Given the description of an element on the screen output the (x, y) to click on. 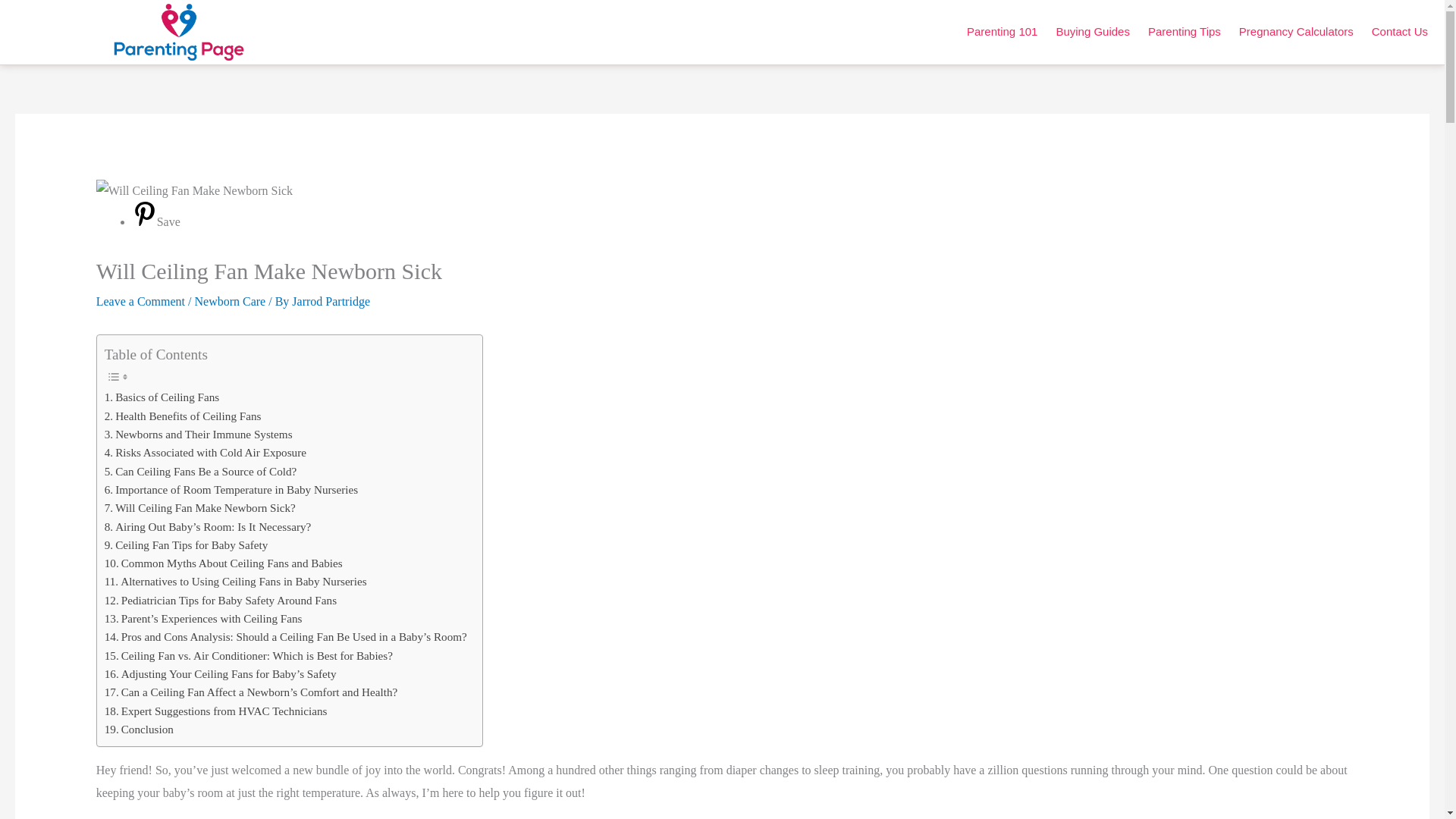
Common Myths About Ceiling Fans and Babies (223, 563)
Parenting Tips (1184, 31)
Leave a Comment (140, 300)
Contact Us (1399, 31)
Will Ceiling Fan Make Newborn Sick? (199, 507)
Health Benefits of Ceiling Fans (183, 416)
Buying Guides (1092, 31)
Ceiling Fan Tips for Baby Safety (185, 545)
Newborns and Their Immune Systems (198, 434)
Newborn Care (228, 300)
Alternatives to Using Ceiling Fans in Baby Nurseries (235, 581)
Pregnancy Calculators (1296, 31)
View all posts by Jarrod Partridge (330, 300)
Importance of Room Temperature in Baby Nurseries (231, 489)
Can Ceiling Fans Be a Source of Cold? (200, 471)
